Given the description of an element on the screen output the (x, y) to click on. 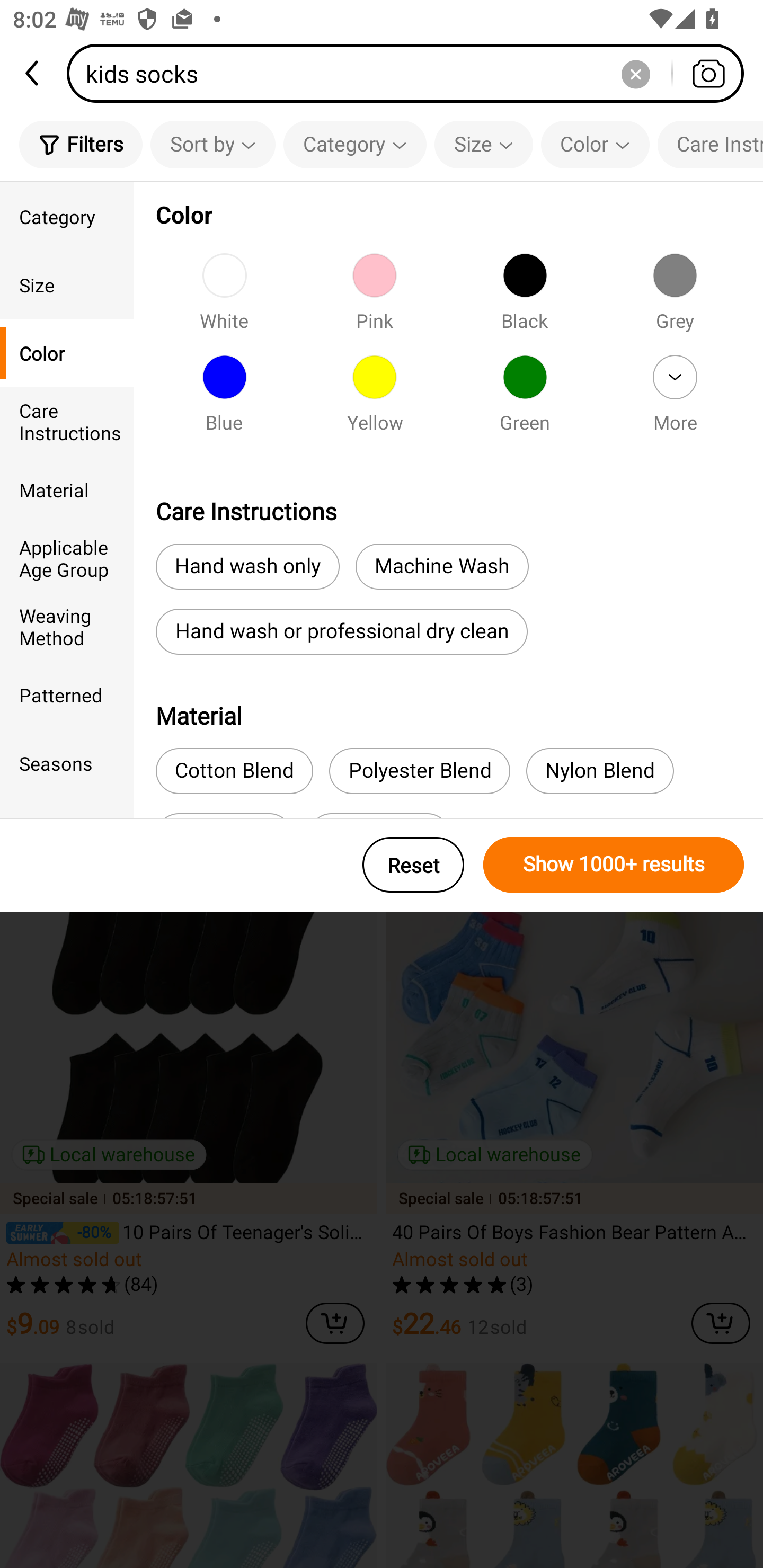
back (33, 72)
kids socks (411, 73)
Delete search history (635, 73)
Search by photo (708, 73)
Filters (80, 143)
Sort by (212, 143)
Category (354, 143)
Size (483, 143)
Color (594, 143)
Care Instructions (710, 143)
Category (66, 215)
Under $3 (196, 273)
& up (358, 273)
Kids' Accessories (558, 273)
Size (66, 284)
Color (66, 352)
More (674, 399)
Care Instructions (66, 421)
Material (66, 489)
Applicable Age Group (66, 557)
